Given the description of an element on the screen output the (x, y) to click on. 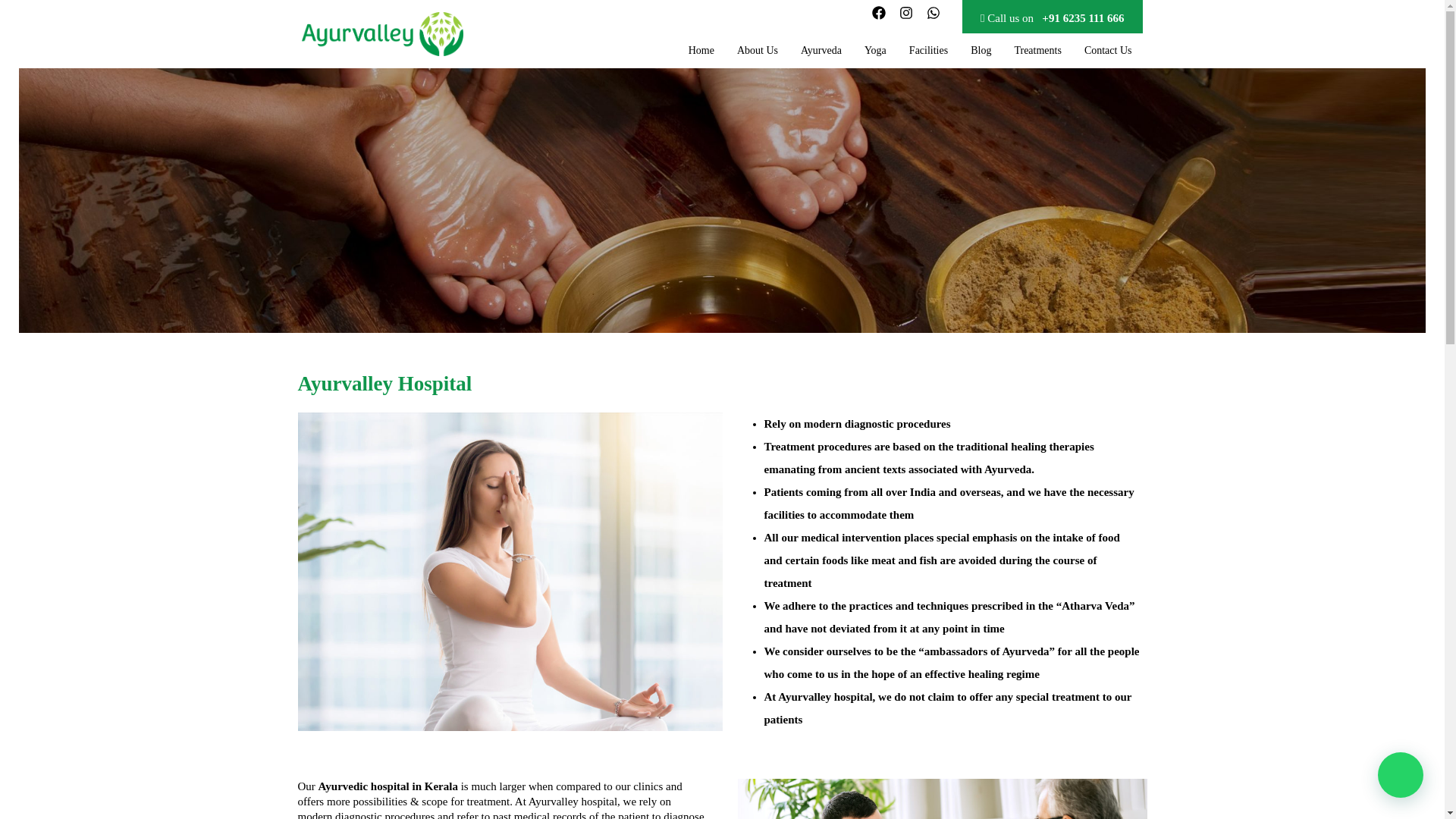
Contact Us (1108, 50)
About Us (756, 50)
Treatments (1037, 50)
Ayurveda (820, 50)
Facilities (927, 50)
